Given the description of an element on the screen output the (x, y) to click on. 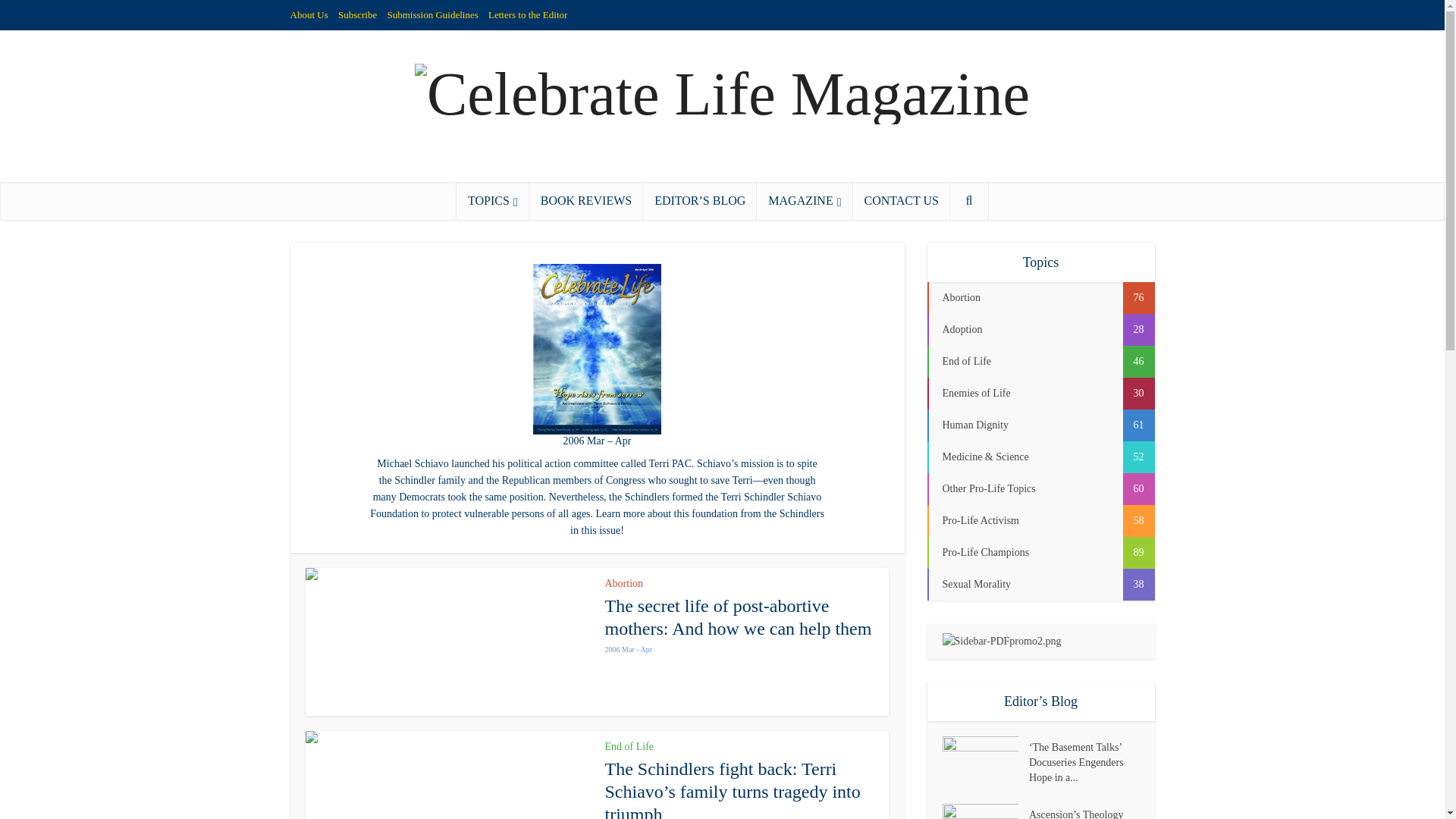
Submission Guidelines (432, 14)
CONTACT US (900, 200)
BOOK REVIEWS (586, 200)
MAGAZINE (804, 200)
About Us (308, 14)
TOPICS (493, 200)
Letters to the Editor (527, 14)
Subscribe (357, 14)
